Given the description of an element on the screen output the (x, y) to click on. 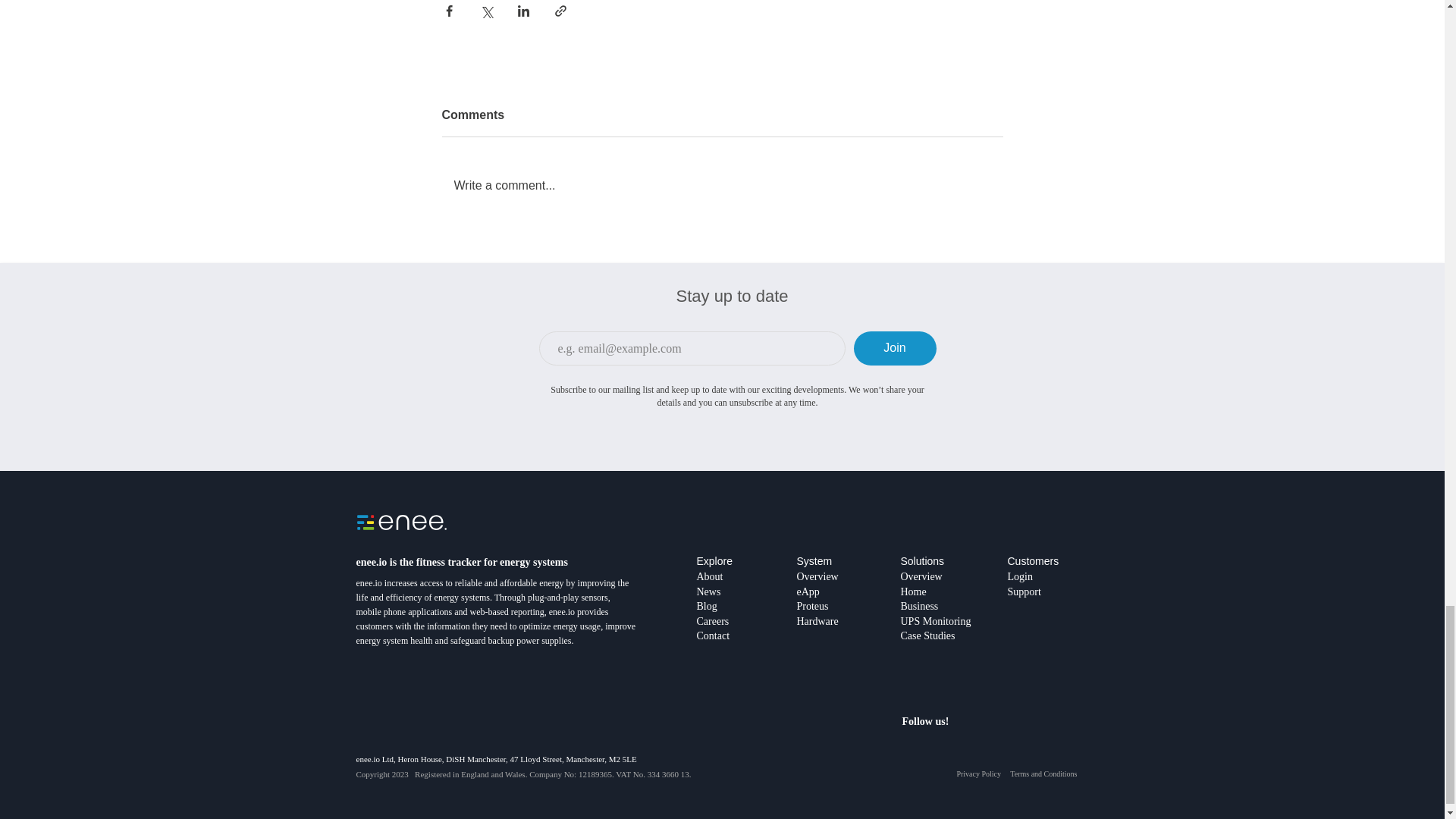
Join (894, 348)
eApp (807, 591)
Hardware (817, 621)
Write a comment... (722, 185)
Overview (817, 576)
Case Studies (928, 635)
Careers (712, 628)
About (708, 576)
Home (913, 591)
Proteus (812, 605)
Overview (921, 576)
Blog (705, 605)
Business (920, 605)
UPS Monitoring (936, 621)
News (707, 591)
